Given the description of an element on the screen output the (x, y) to click on. 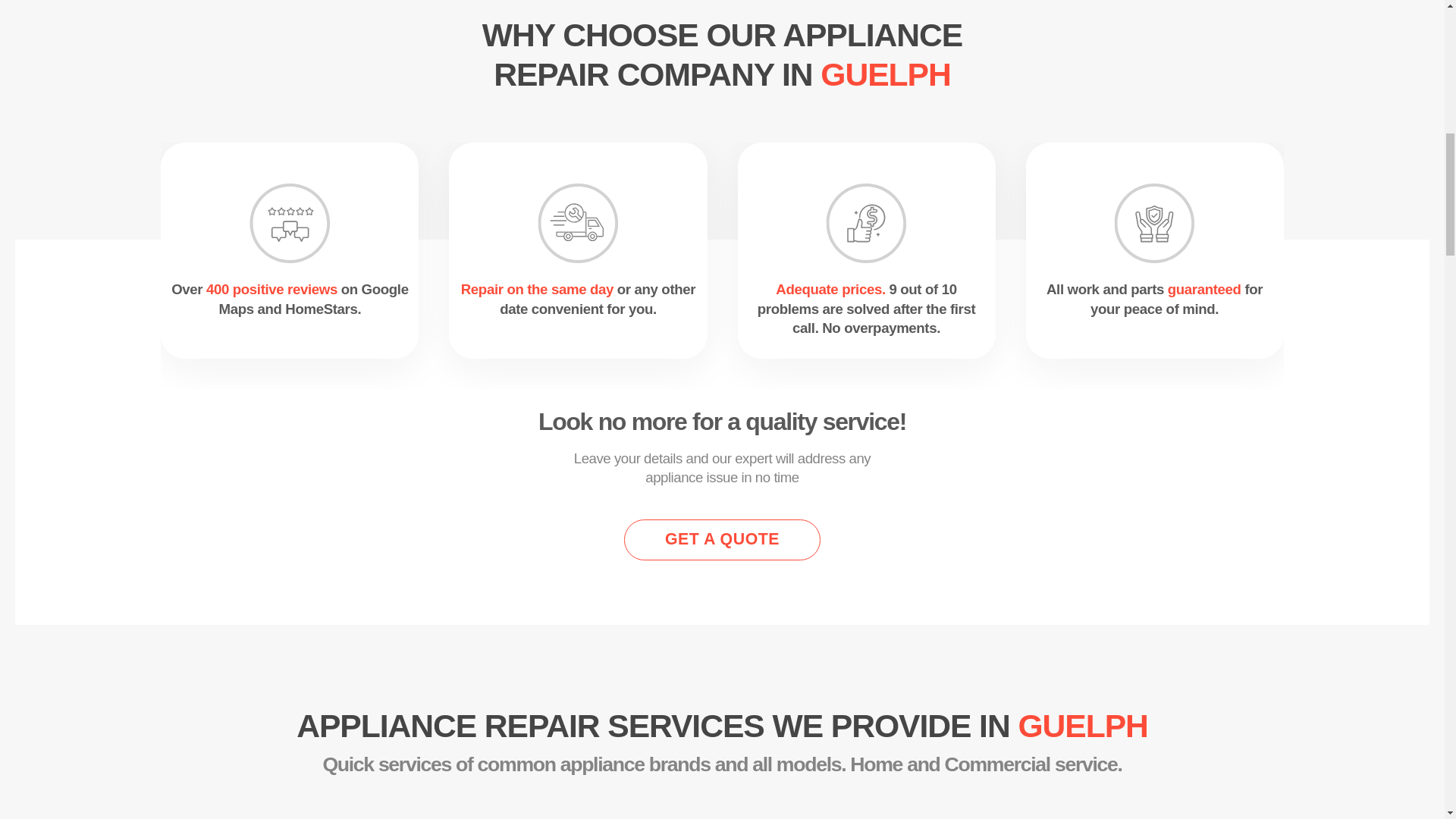
GET A QUOTE (722, 539)
